Given the description of an element on the screen output the (x, y) to click on. 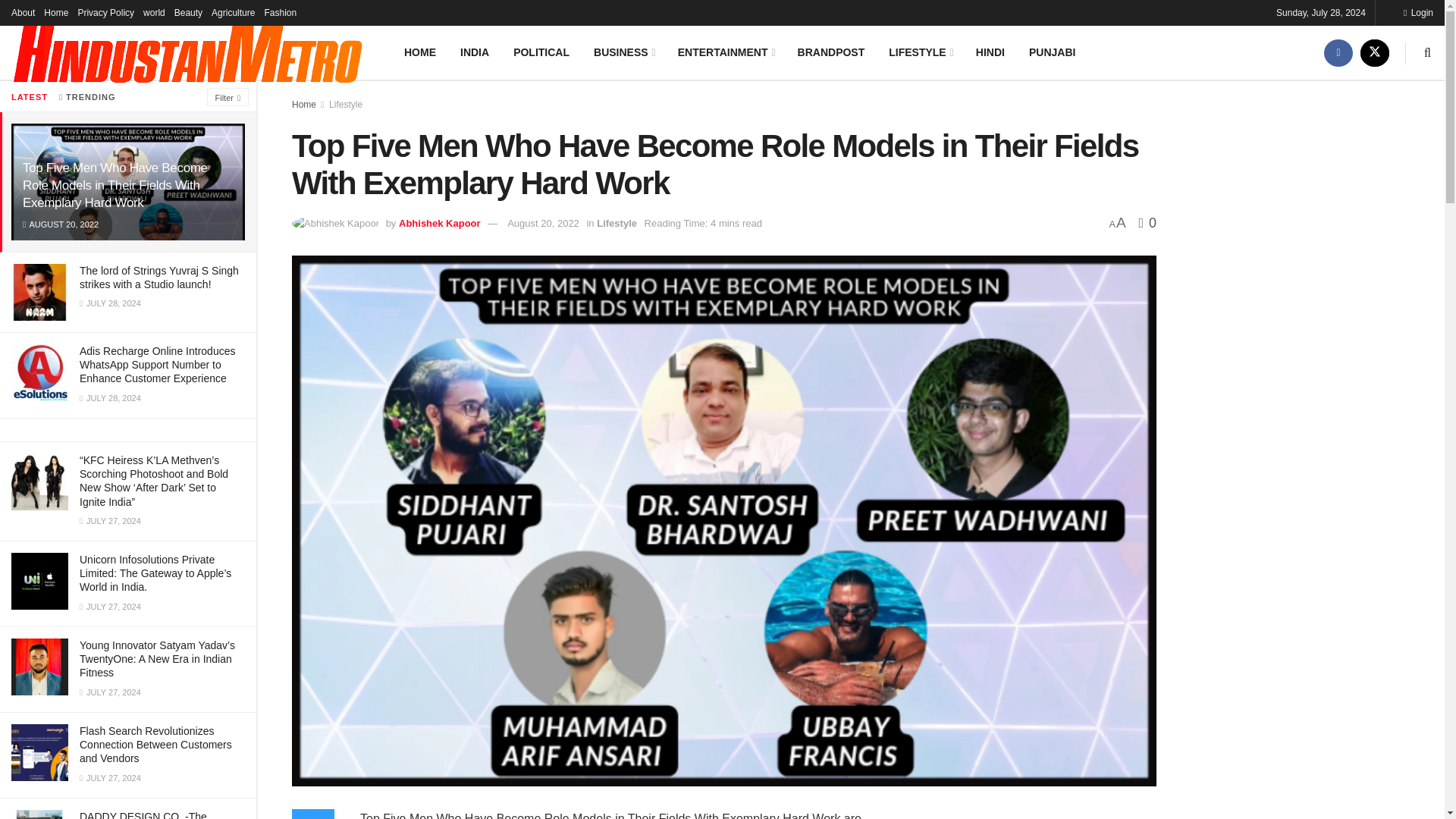
HOME (419, 52)
Privacy Policy (105, 12)
DADDY DESIGN CO. -The Supreme warehouse of Ethereal Garments (155, 814)
Fashion (280, 12)
Home (55, 12)
INDIA (474, 52)
Beauty (188, 12)
Agriculture (232, 12)
Filter (227, 96)
Login (1417, 12)
About (22, 12)
